Given the description of an element on the screen output the (x, y) to click on. 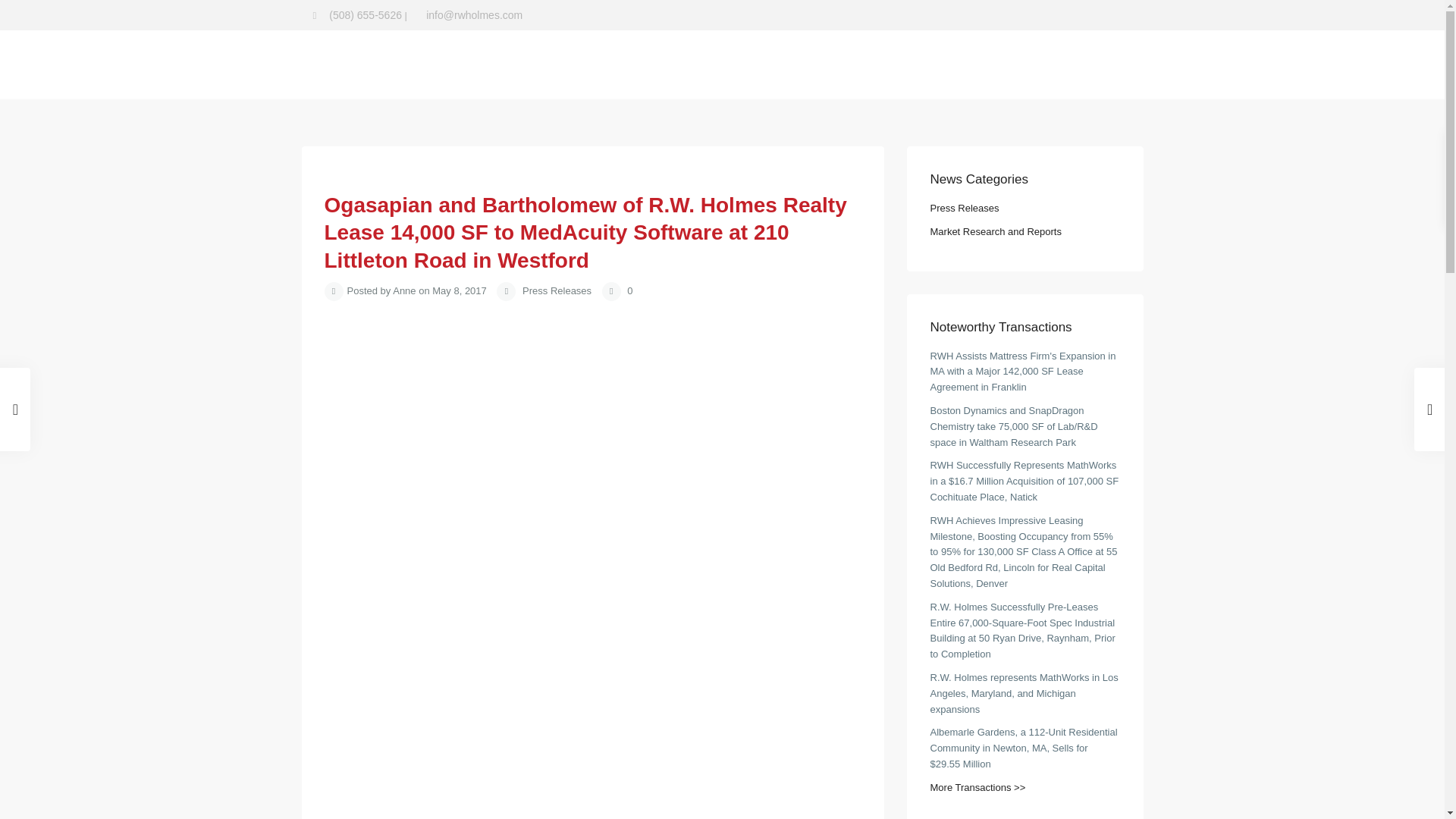
Market Research and Reports (794, 64)
Property Listings (655, 64)
